Given the description of an element on the screen output the (x, y) to click on. 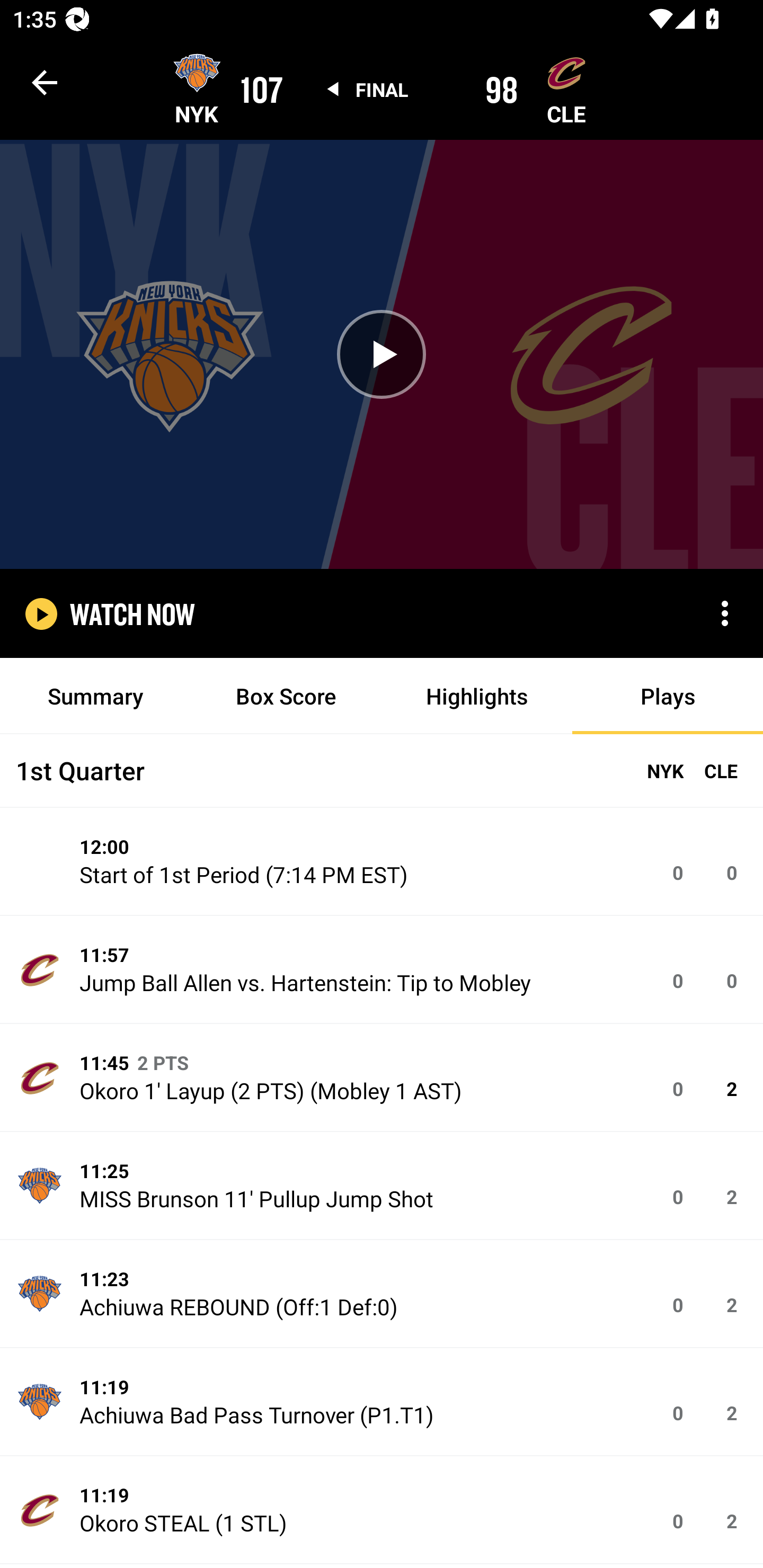
Navigate up (44, 82)
More options (724, 613)
WATCH NOW (132, 613)
Summary (95, 695)
Box Score (285, 695)
Highlights (476, 695)
